Given the description of an element on the screen output the (x, y) to click on. 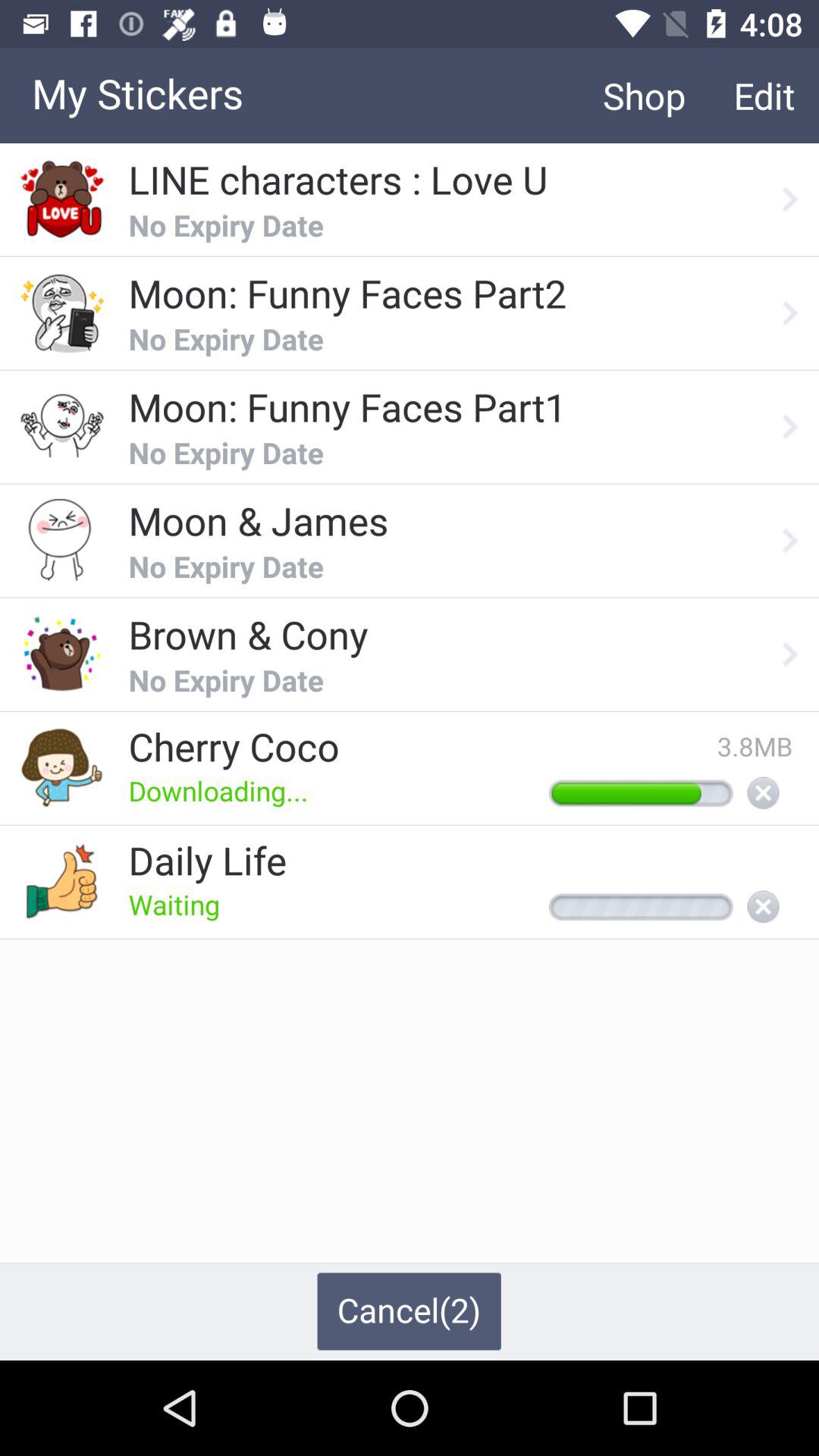
go close (762, 907)
